Given the description of an element on the screen output the (x, y) to click on. 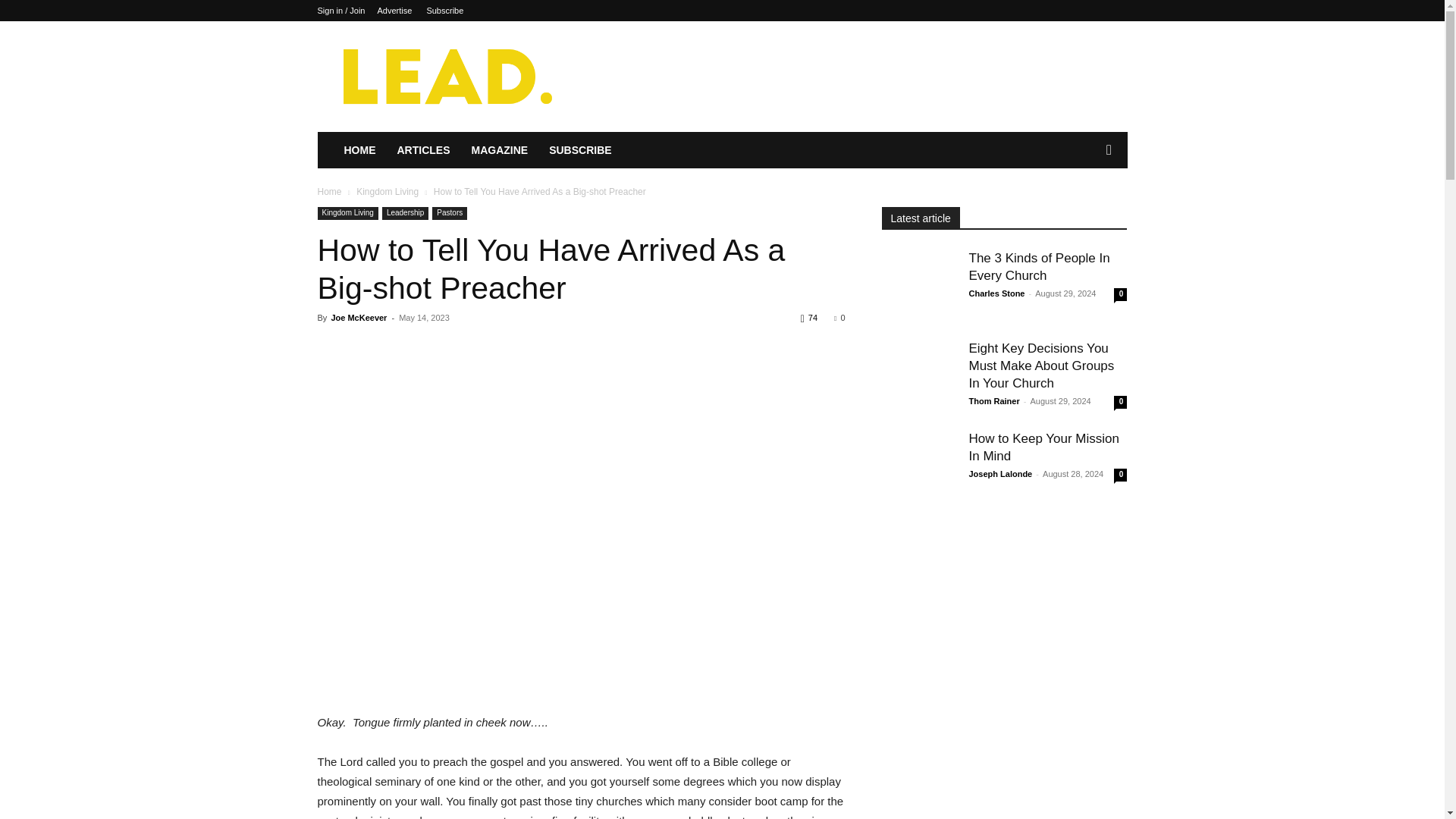
Advertise (394, 10)
Kingdom Living (387, 191)
Search (1085, 210)
MAGAZINE (499, 149)
Lead Magazine (445, 76)
View all posts in Kingdom Living (387, 191)
Kingdom Living (347, 213)
ARTICLES (424, 149)
Leadership (404, 213)
SUBSCRIBE (579, 149)
